Given the description of an element on the screen output the (x, y) to click on. 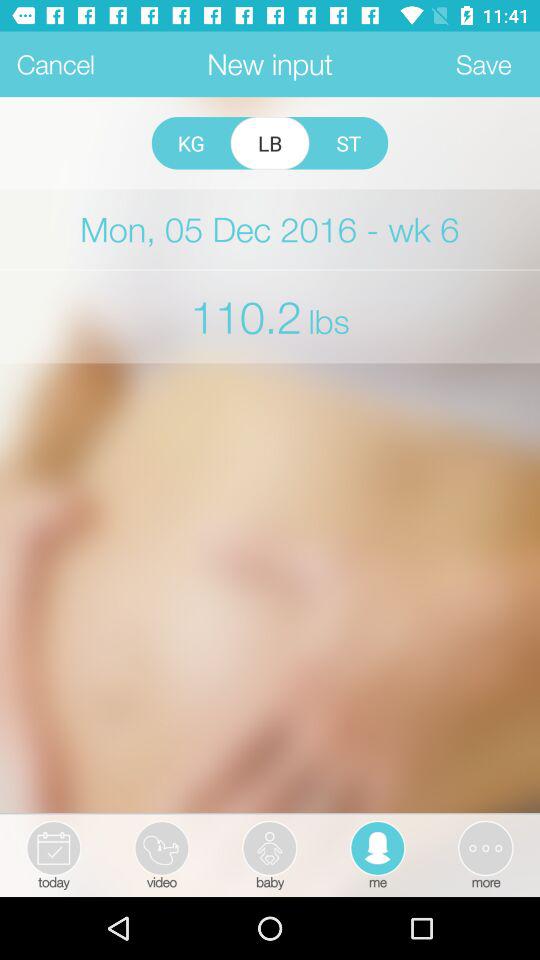
open item next to the lb (190, 143)
